Given the description of an element on the screen output the (x, y) to click on. 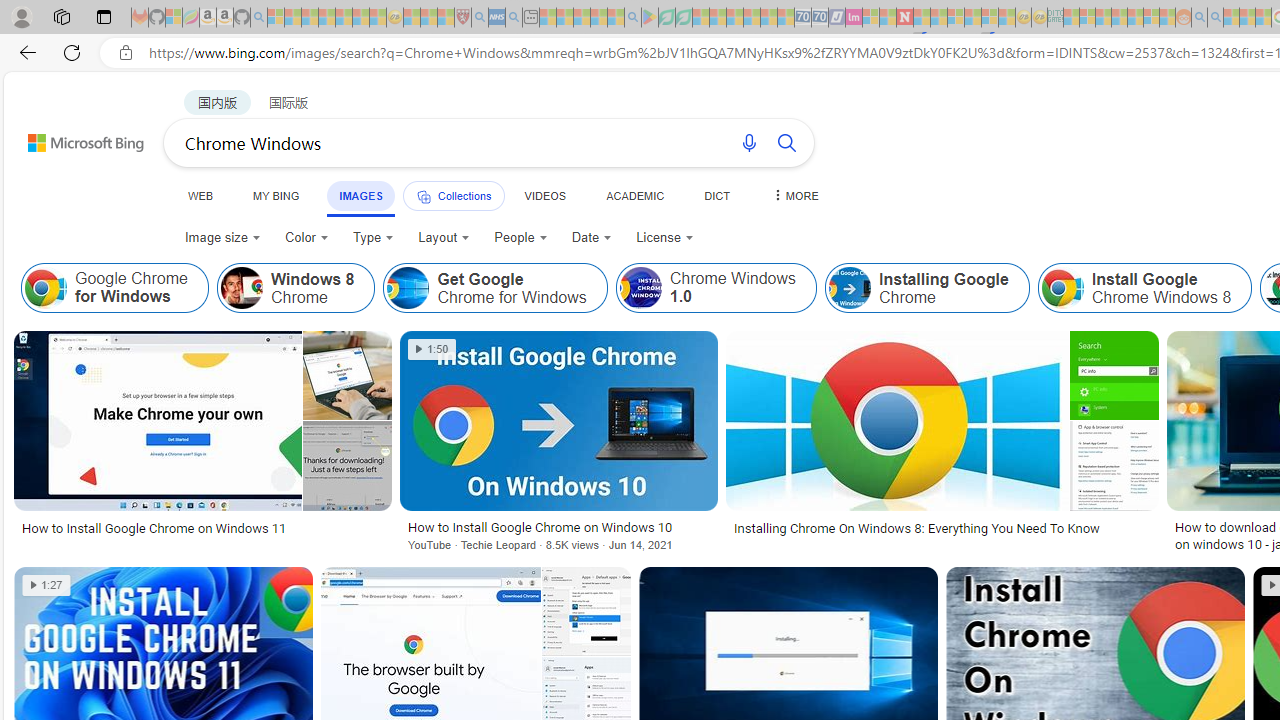
Class: b_pri_nav_svg (423, 196)
People (521, 237)
VIDEOS (545, 195)
Kinda Frugal - MSN - Sleeping (1135, 17)
MY BING (276, 195)
utah sues federal government - Search - Sleeping (513, 17)
MSNBC - MSN - Sleeping (1071, 17)
How to Install Google Chrome on Windows 10 (559, 527)
Microsoft-Report a Concern to Bing - Sleeping (173, 17)
Image result for Chrome Windows (558, 421)
Chrome Windows 1.0 (715, 287)
Color (305, 237)
